Given the description of an element on the screen output the (x, y) to click on. 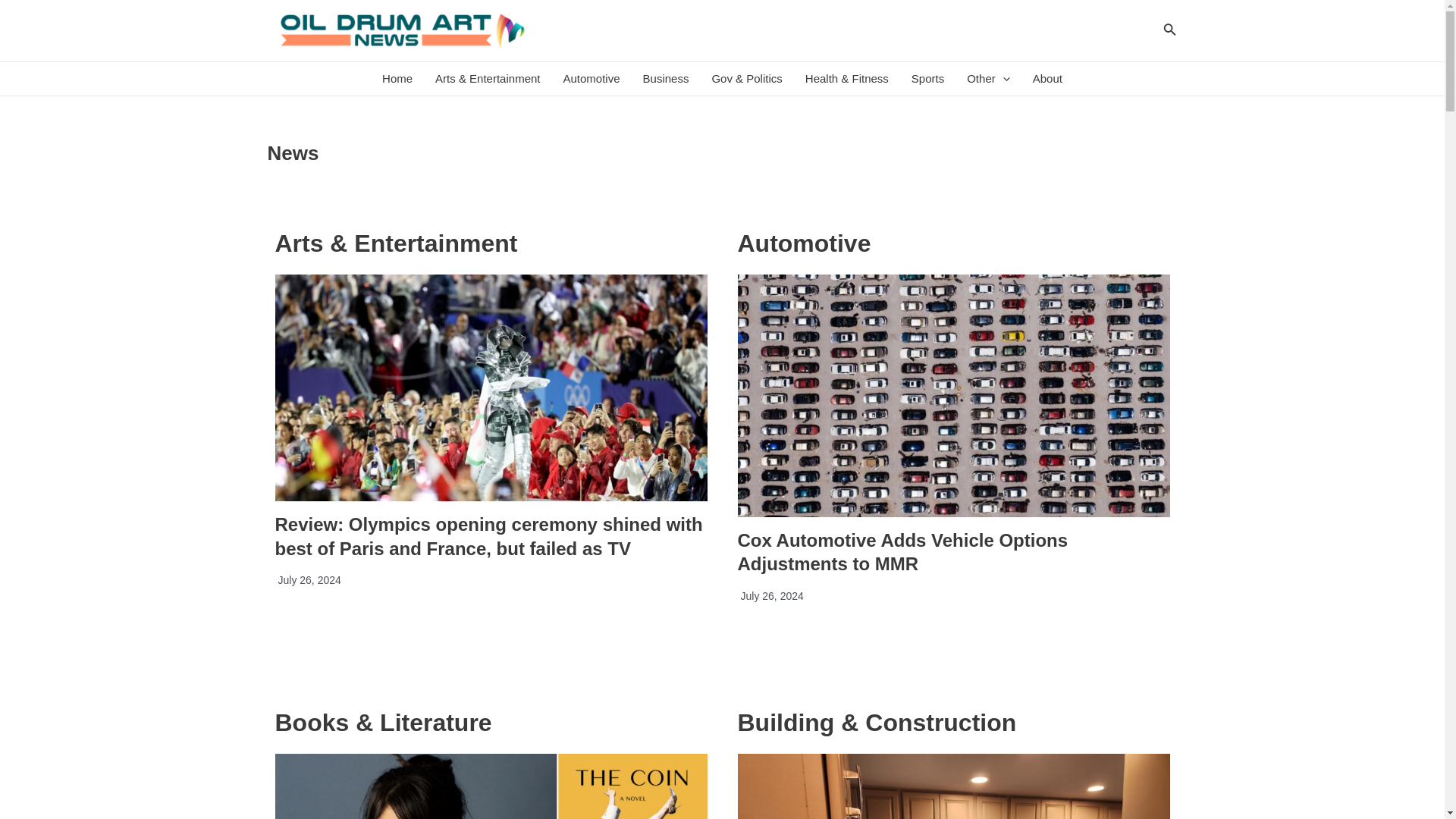
Sports (927, 78)
Other (988, 78)
About (1048, 78)
Automotive (591, 78)
Home (397, 78)
Business (665, 78)
